Given the description of an element on the screen output the (x, y) to click on. 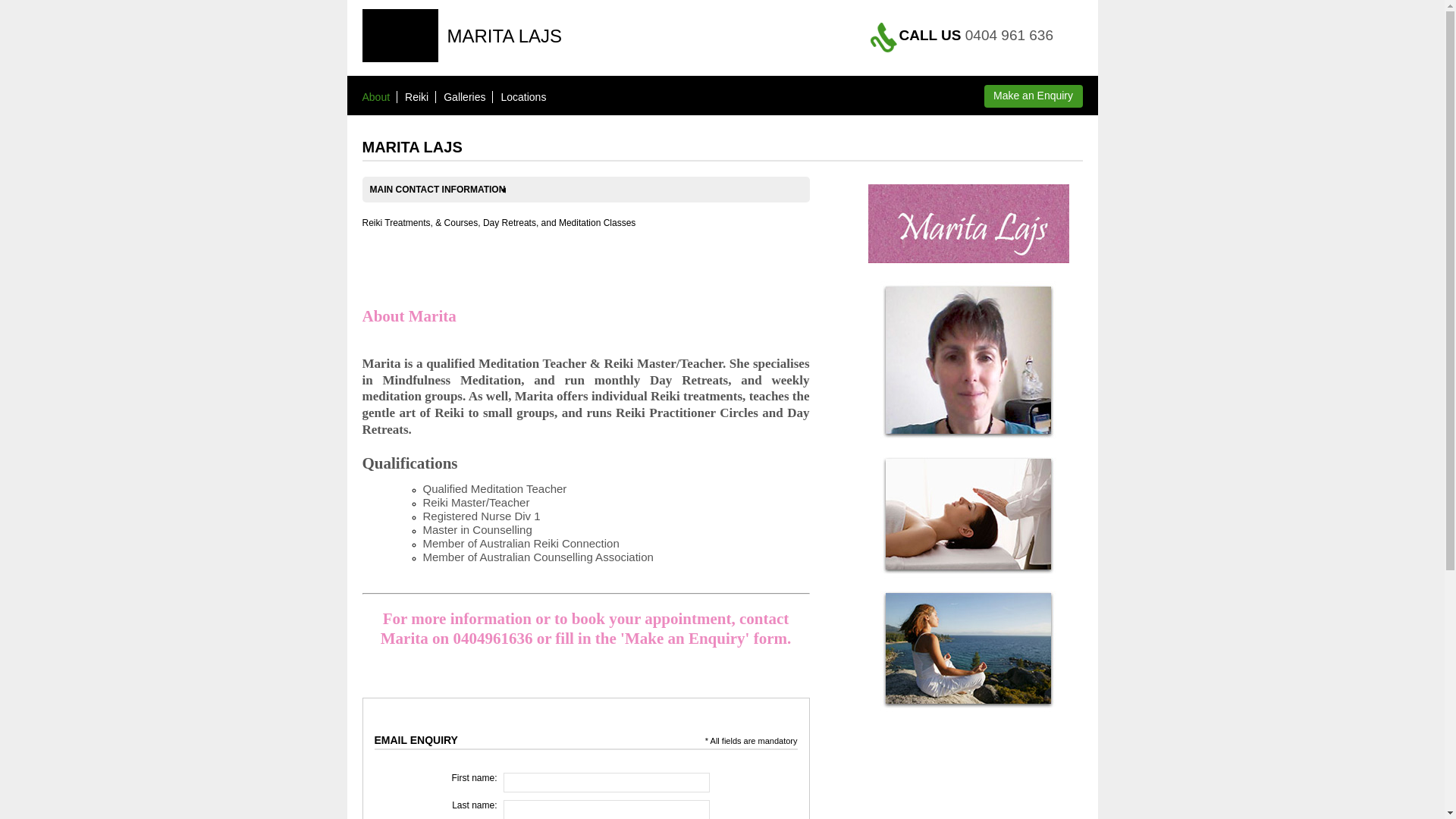
About Element type: text (376, 97)
Galleries Element type: text (464, 97)
Reiki Element type: text (416, 97)
MAIN CONTACT INFORMATION Element type: text (445, 189)
MARITA LAJS Element type: text (504, 35)
Locations Element type: text (523, 97)
Make an Enquiry Element type: text (1033, 95)
  Element type: text (459, 740)
